Given the description of an element on the screen output the (x, y) to click on. 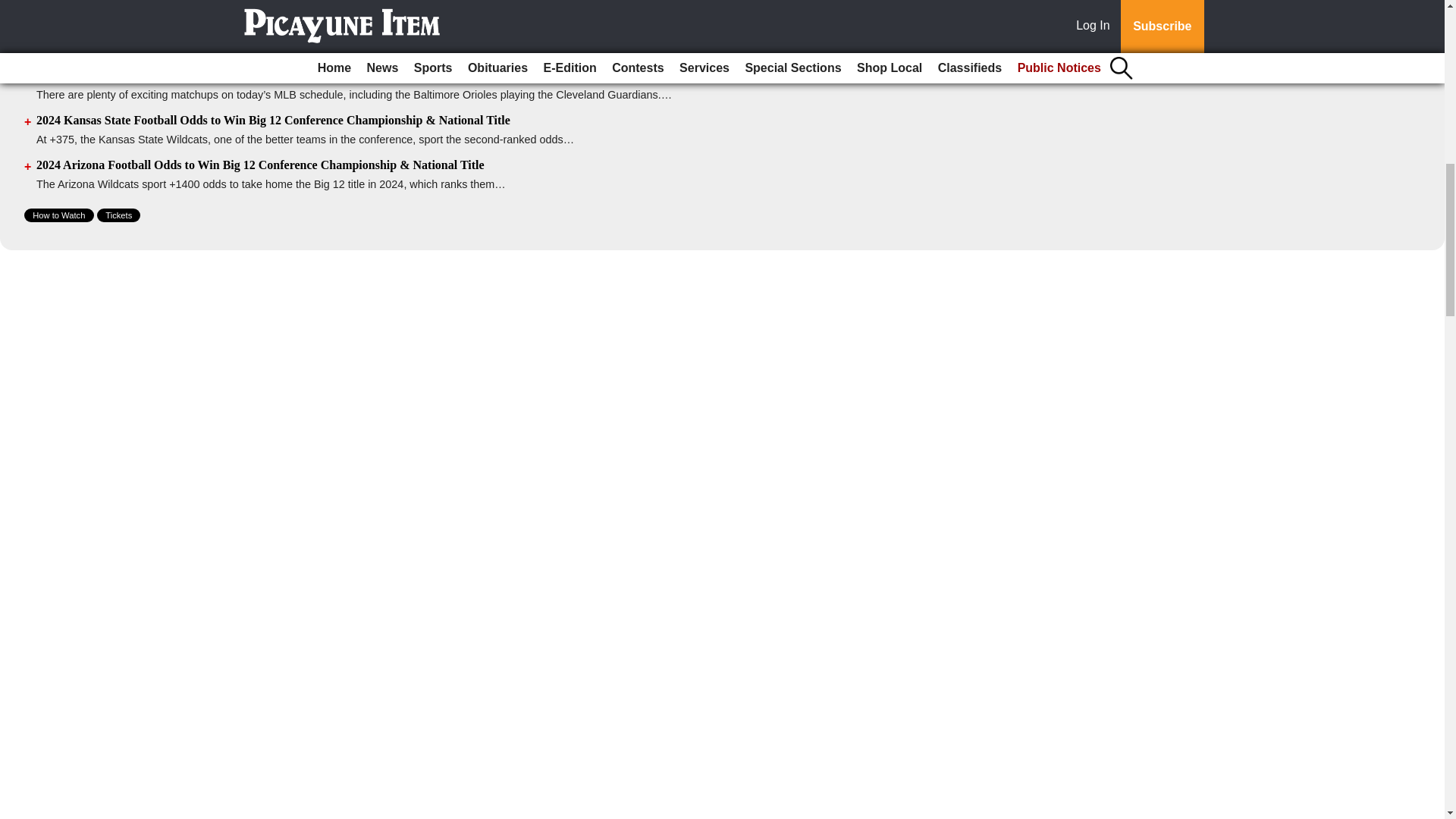
Tickets (118, 214)
How to Watch (59, 214)
